Given the description of an element on the screen output the (x, y) to click on. 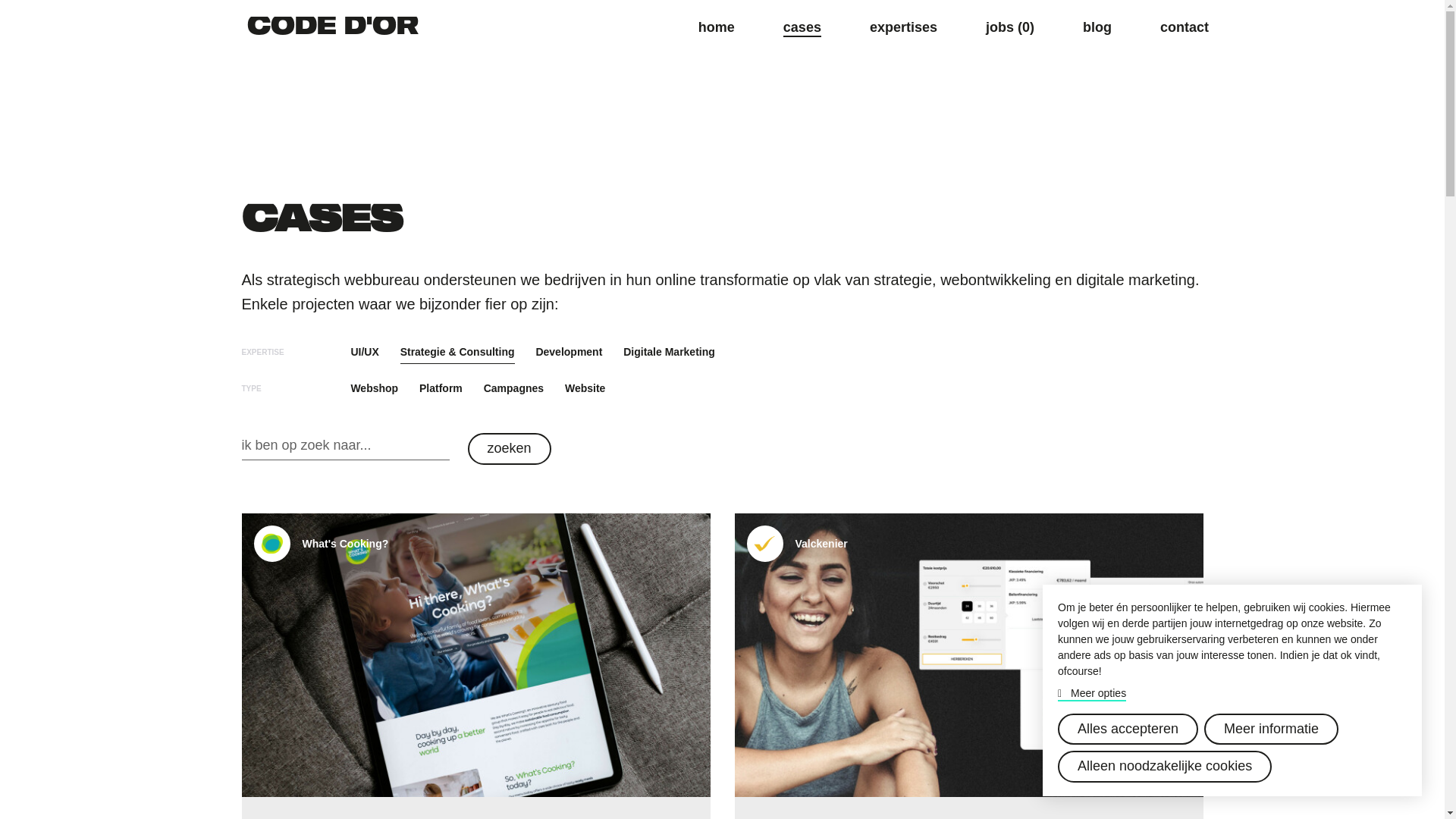
cases Element type: text (802, 24)
Meer informatie Element type: text (1271, 729)
Meer opties Element type: text (1091, 693)
zoeken Element type: text (508, 448)
Alleen noodzakelijke cookies Element type: text (1164, 766)
blog Element type: text (1096, 24)
home Element type: text (716, 24)
Code d'Or Element type: text (332, 24)
contact Element type: text (1184, 24)
Alles accepteren Element type: text (1127, 729)
(0)
jobs Element type: text (1009, 24)
expertises Element type: text (903, 24)
